Given the description of an element on the screen output the (x, y) to click on. 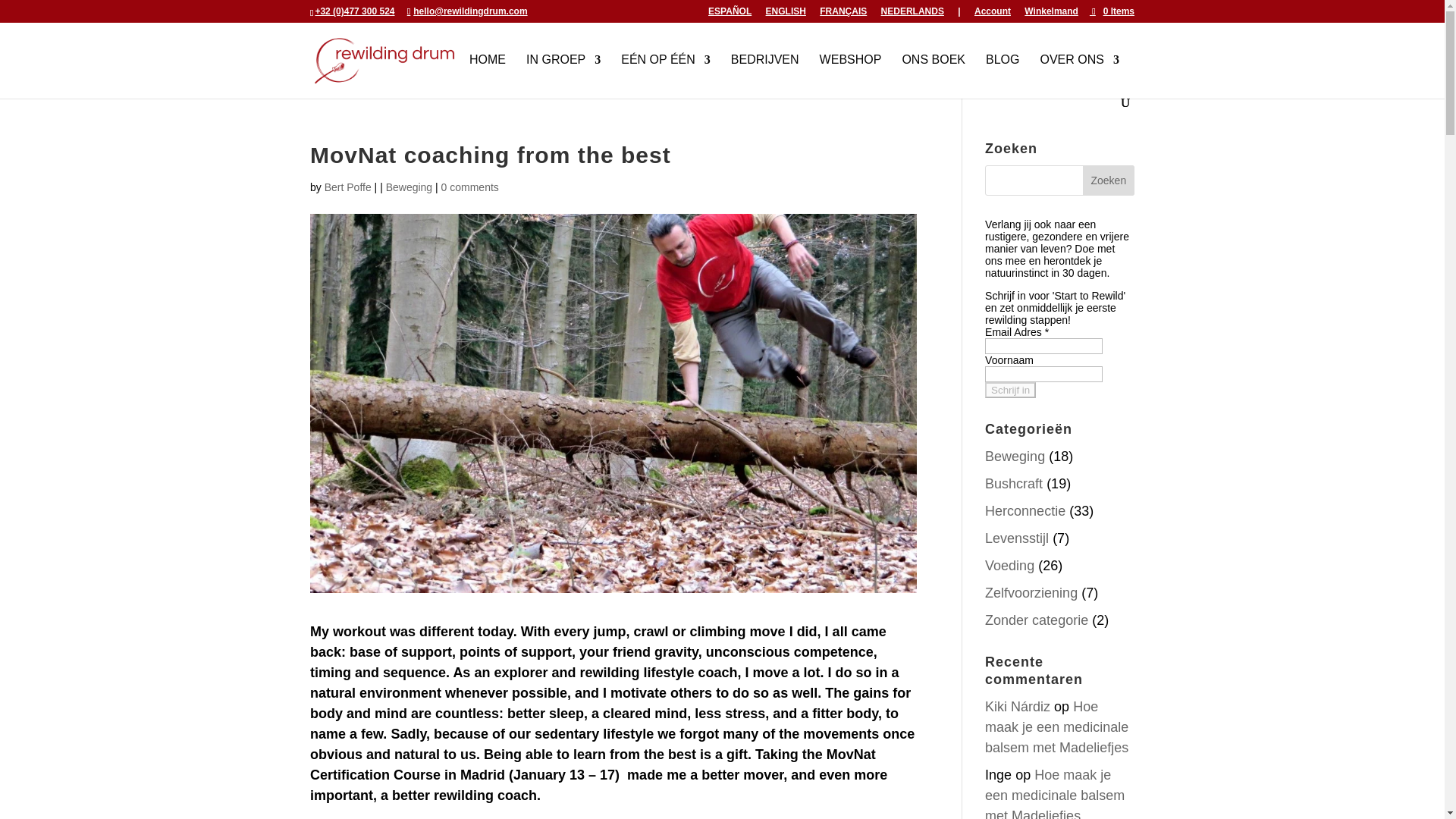
Account (992, 14)
WEBSHOP (850, 75)
IN GROEP (562, 75)
Zoeken (1108, 180)
BEDRIJVEN (764, 75)
NEDERLANDS (911, 14)
Posts by Bert Poffe (347, 186)
Winkelmand (1051, 14)
OVER ONS (1080, 75)
ONS BOEK (933, 75)
0 Items (1111, 10)
ENGLISH (785, 14)
Schrijf in (1010, 390)
